Given the description of an element on the screen output the (x, y) to click on. 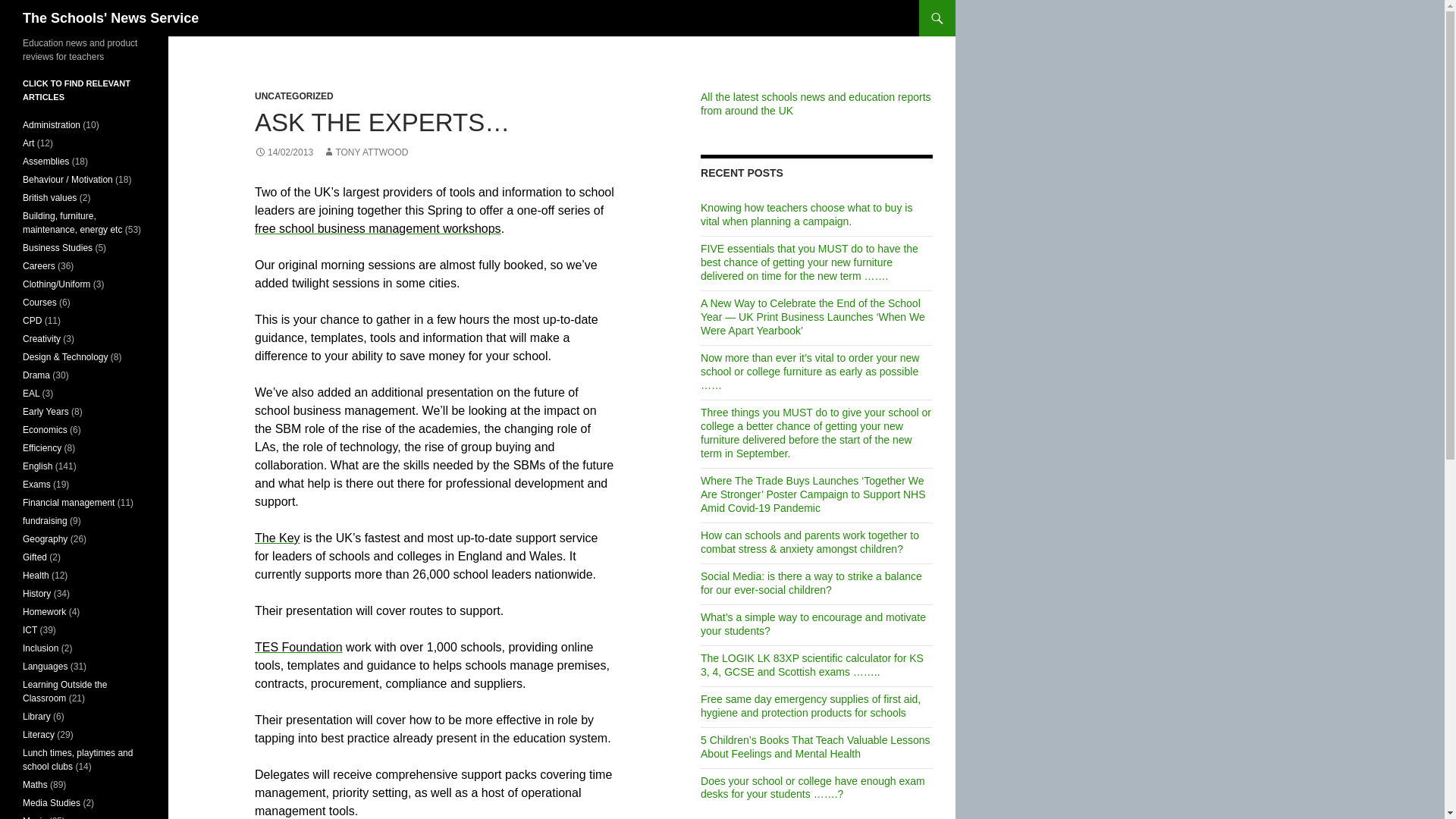
TES Foundation (298, 646)
UNCATEGORIZED (293, 95)
UK Education News (815, 103)
The Key (276, 537)
The Schools' News Service (110, 18)
TONY ATTWOOD (365, 152)
free school business management workshops (377, 228)
